Given the description of an element on the screen output the (x, y) to click on. 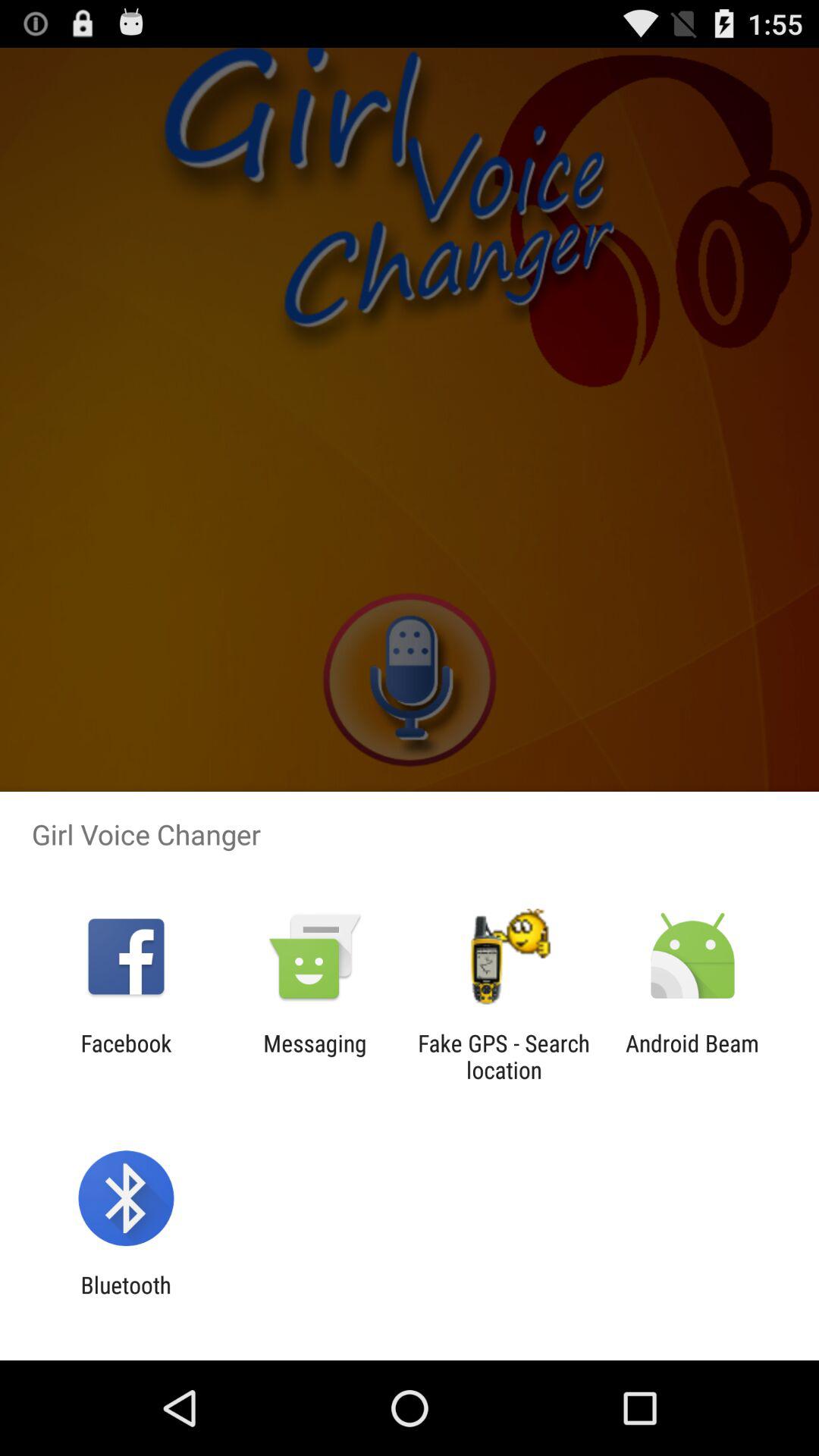
click bluetooth (125, 1298)
